Given the description of an element on the screen output the (x, y) to click on. 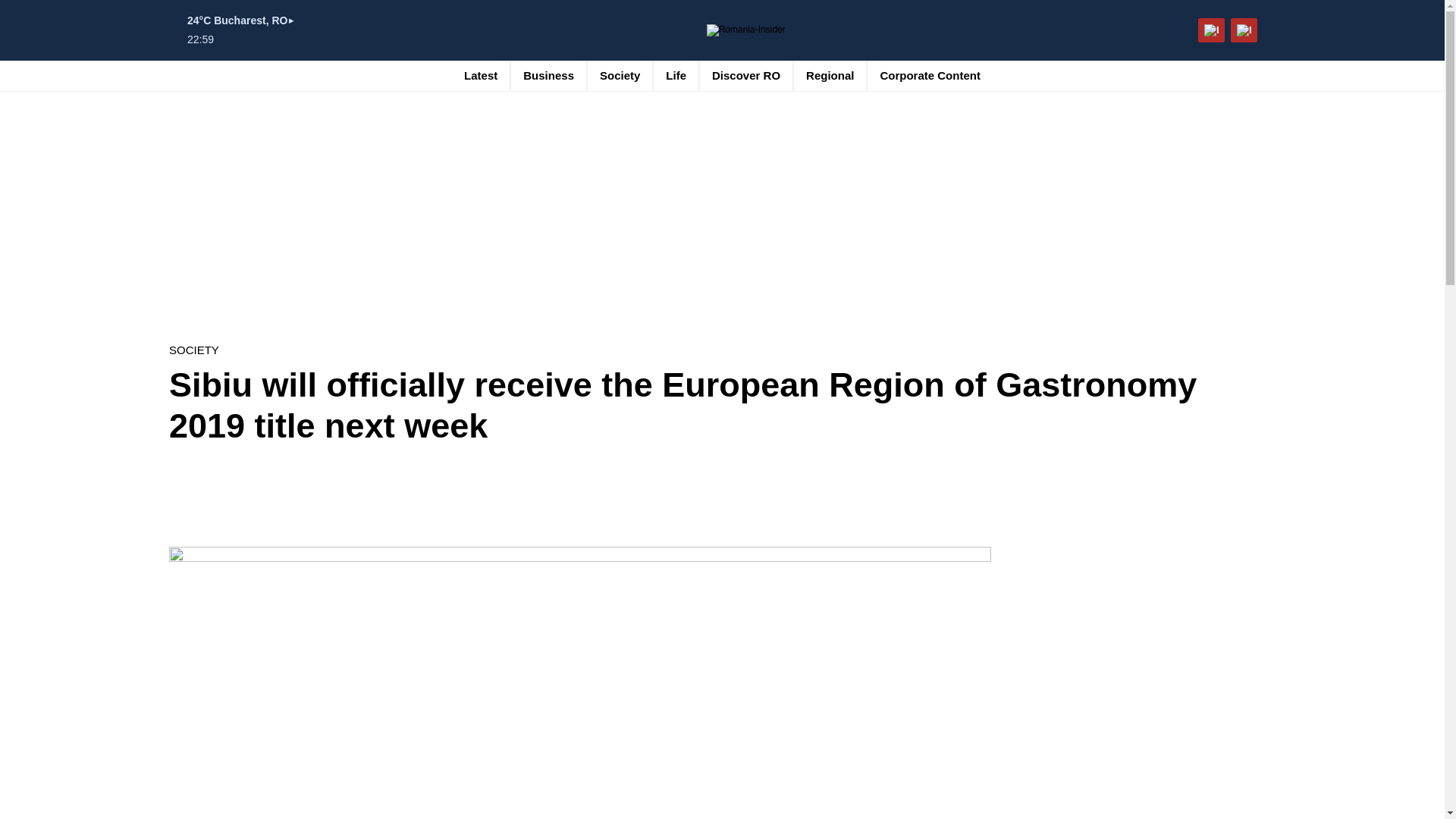
Business (547, 74)
Latest (480, 74)
Society (619, 74)
